Given the description of an element on the screen output the (x, y) to click on. 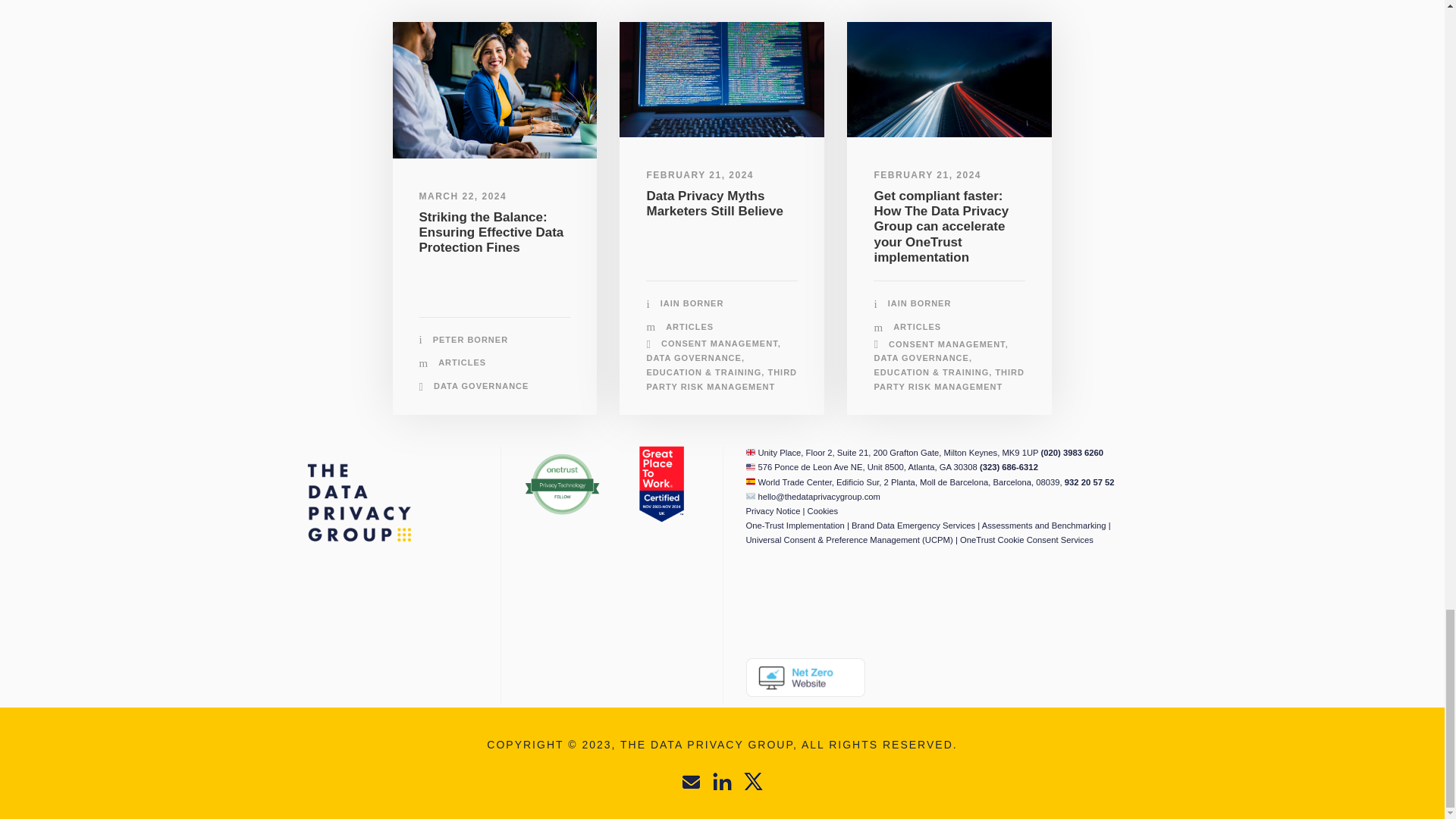
Posts by Peter Borner (470, 338)
data privacy myths (722, 79)
data-governance (494, 90)
